Given the description of an element on the screen output the (x, y) to click on. 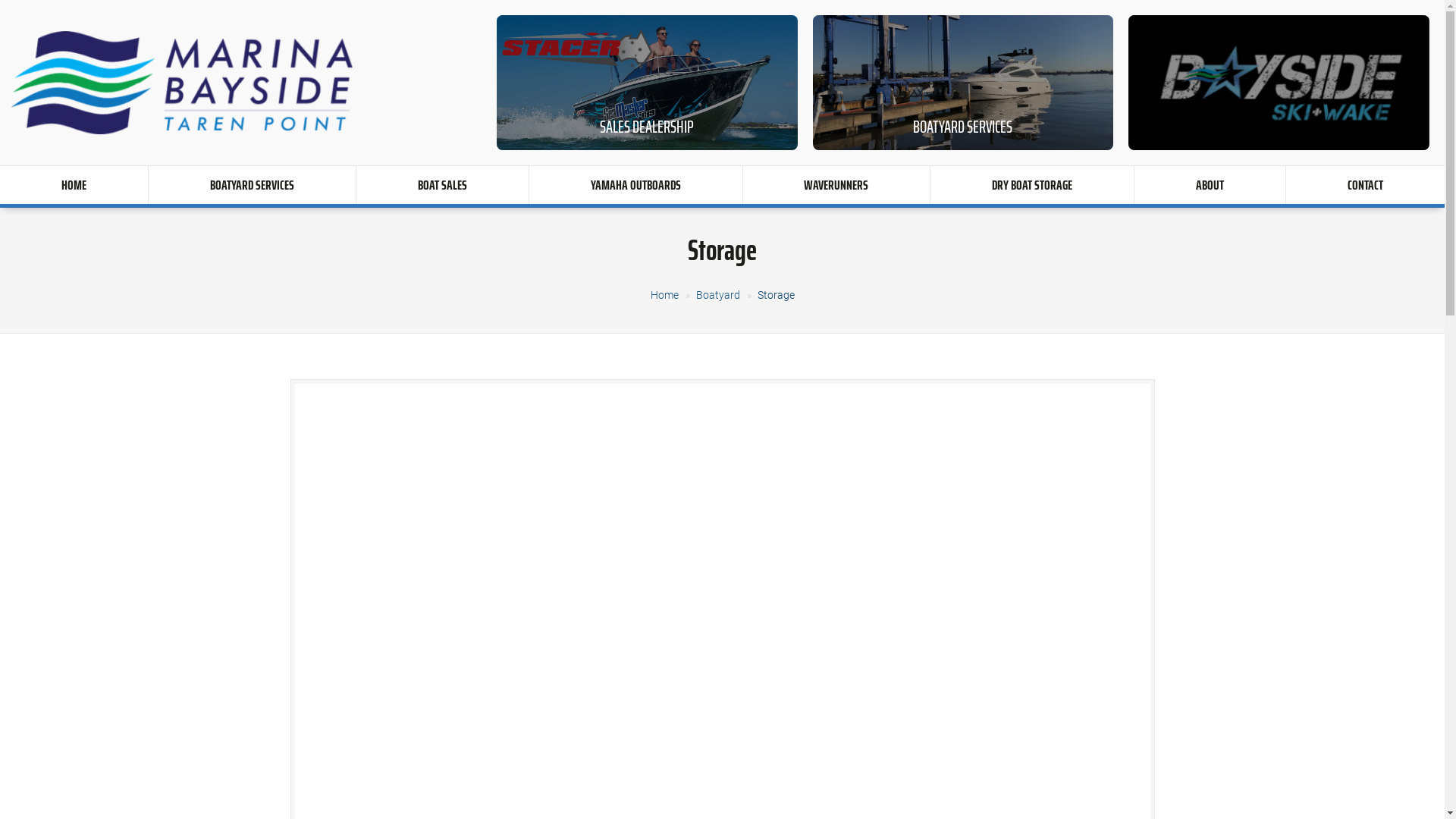
BOATYARD SERVICES Element type: text (251, 184)
YAMAHA OUTBOARDS Element type: text (635, 184)
CONTACT Element type: text (1365, 184)
Boatyard Element type: text (718, 294)
HOME Element type: text (73, 184)
DRY BOAT STORAGE Element type: text (1031, 184)
ABOUT Element type: text (1209, 184)
BOAT SALES Element type: text (442, 184)
Marina Bayside Element type: hover (181, 82)
WAVERUNNERS Element type: text (836, 184)
Home Element type: text (664, 294)
